Given the description of an element on the screen output the (x, y) to click on. 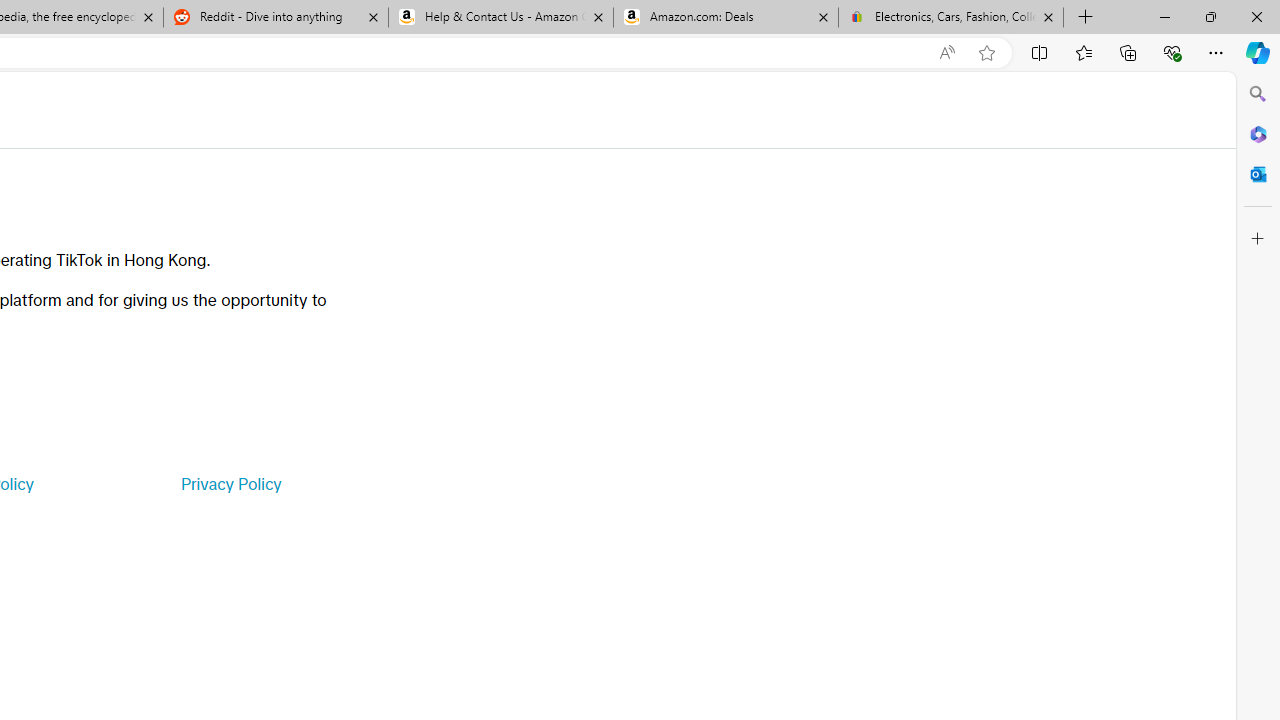
Privacy Policy (230, 484)
Amazon.com: Deals (726, 17)
